Given the description of an element on the screen output the (x, y) to click on. 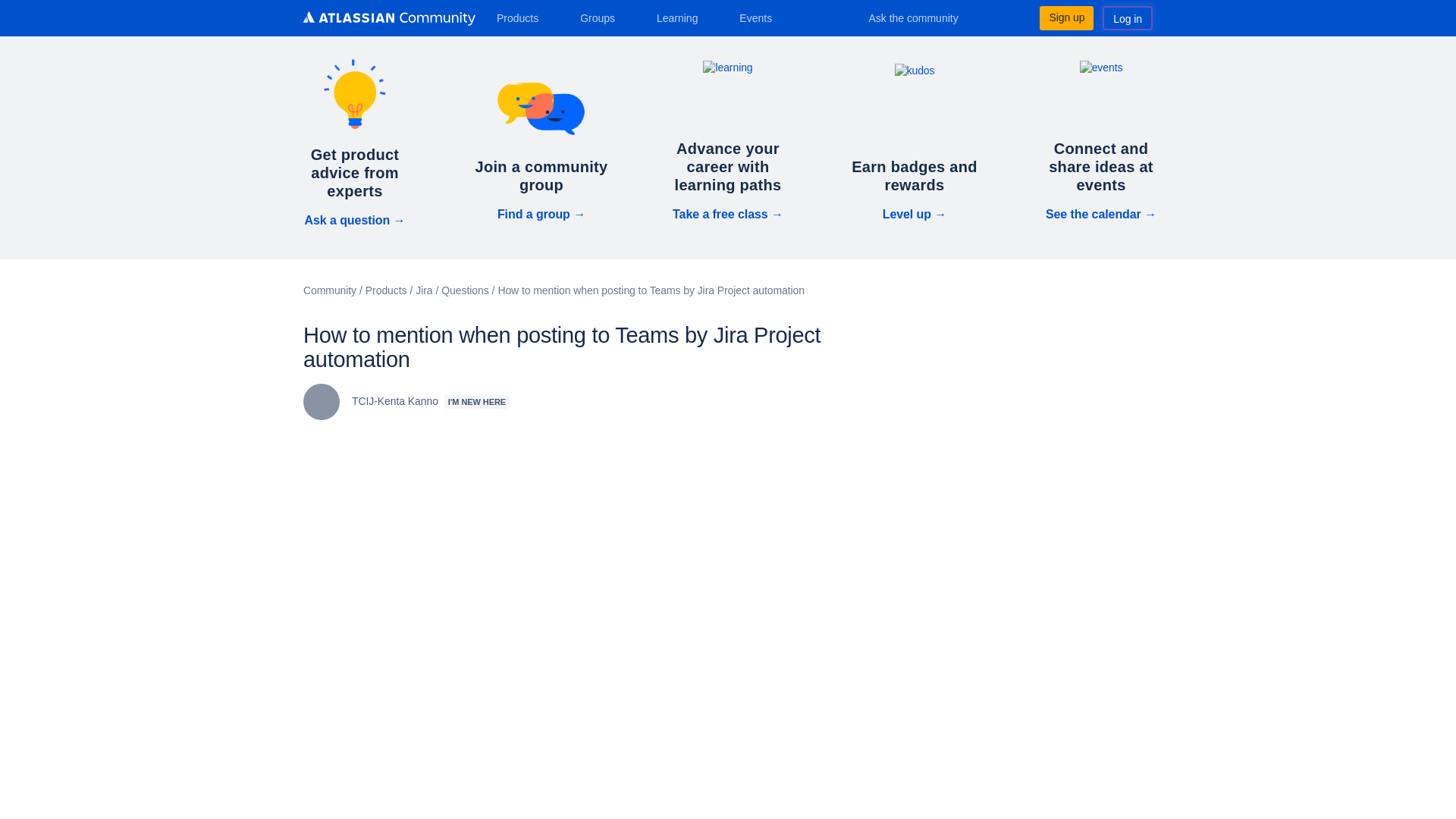
Events (761, 17)
Products (523, 17)
Atlassian Community logo (389, 18)
TCIJ-Kenta Kanno (320, 402)
Log in (1127, 17)
Atlassian Community logo (389, 19)
Learning (682, 17)
Ask the community  (923, 17)
Groups (602, 17)
Sign up (1066, 17)
